Given the description of an element on the screen output the (x, y) to click on. 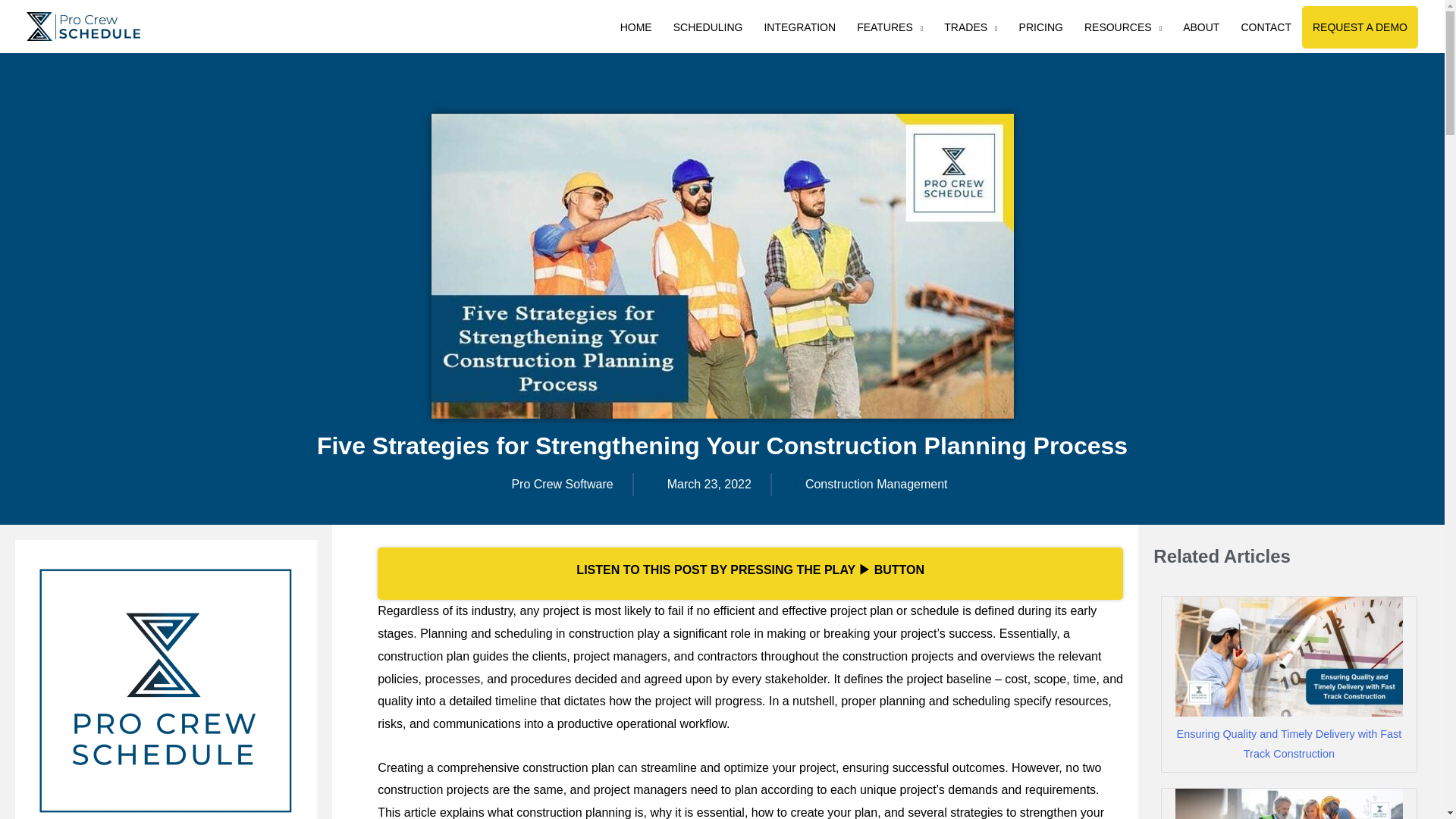
SCHEDULING (708, 26)
HOME (636, 26)
TRADES (970, 26)
INTEGRATION (798, 26)
PRICING (1041, 26)
FEATURES (889, 26)
RESOURCES (1123, 26)
